Given the description of an element on the screen output the (x, y) to click on. 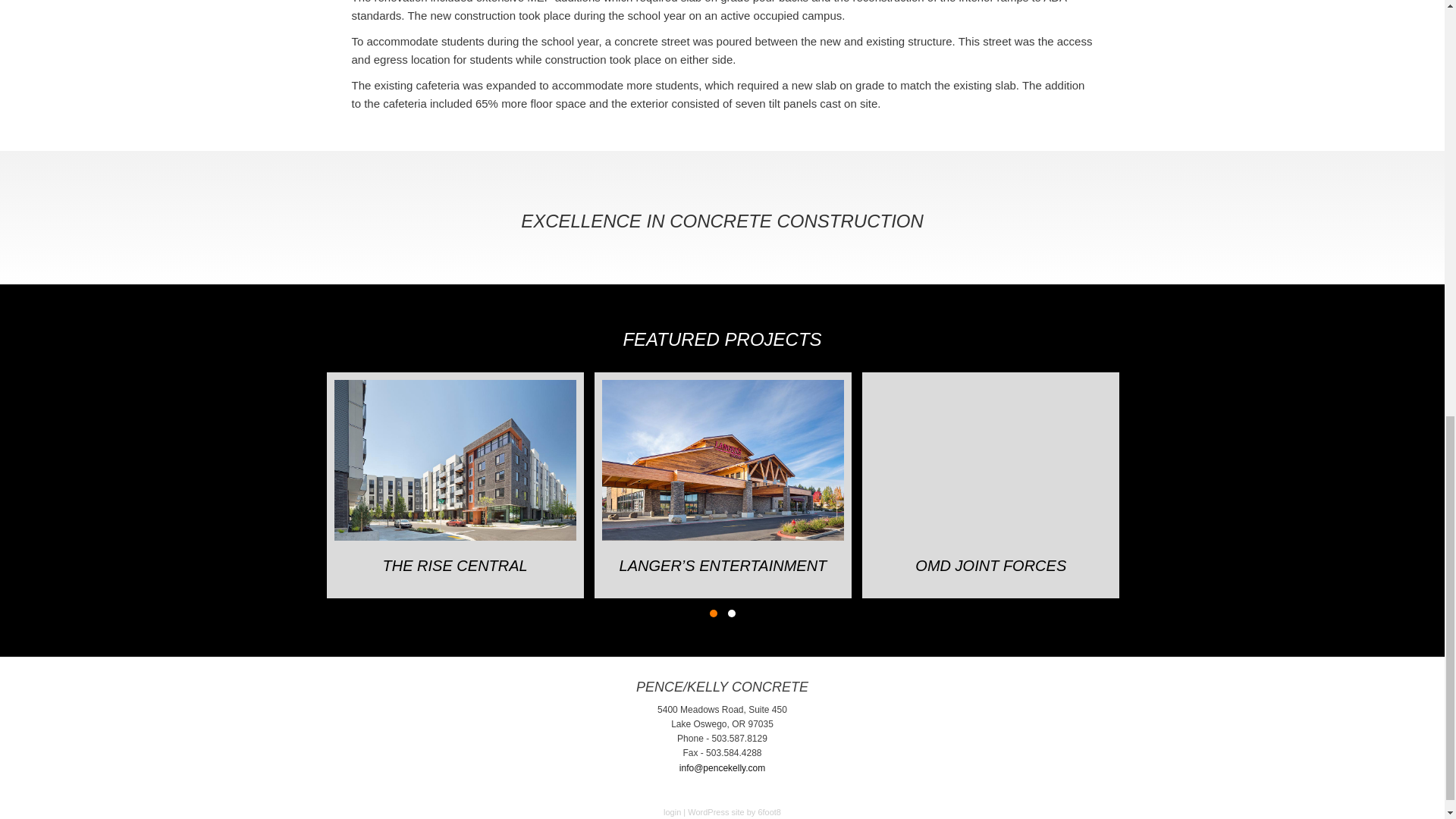
Slide group 1 (712, 613)
The Rise Central (455, 460)
OMD Joint Forces (990, 565)
OMD Joint Forces (990, 460)
OMD JOINT FORCES (990, 565)
THE RISE CENTRAL (455, 565)
The Rise Central (455, 565)
Slide group 2 (730, 613)
